Given the description of an element on the screen output the (x, y) to click on. 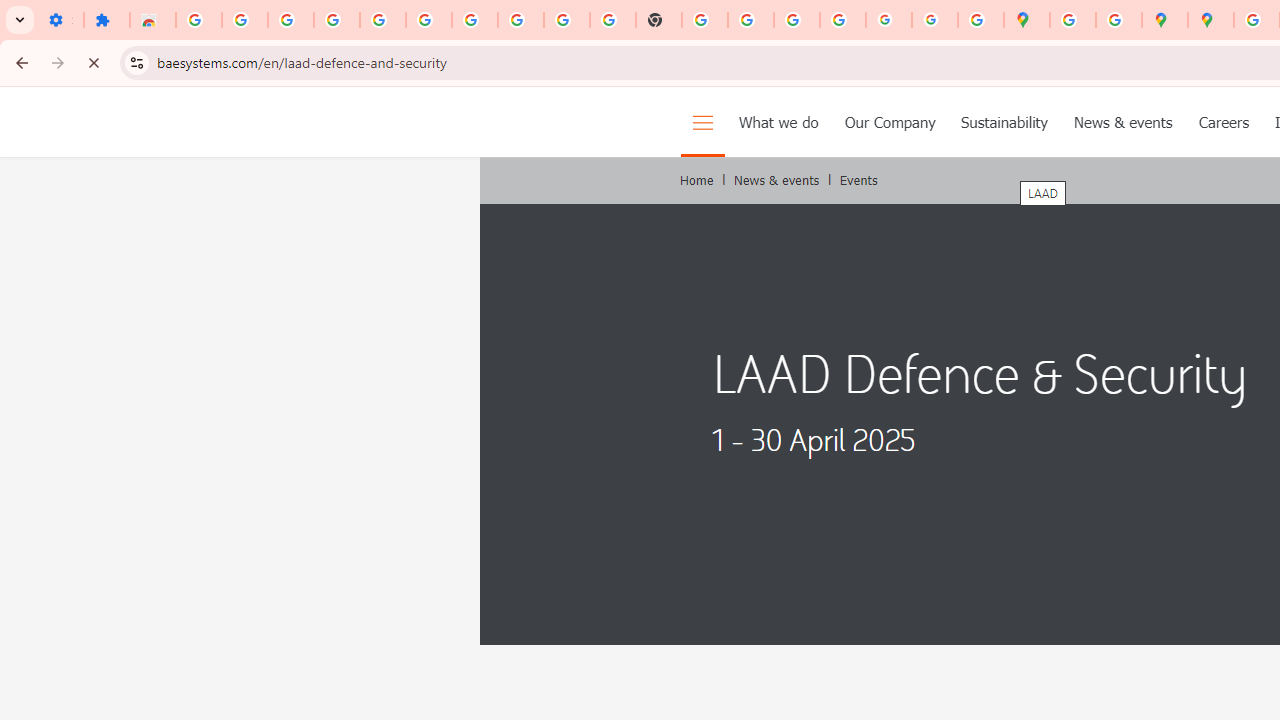
Sign in - Google Accounts (198, 20)
Sign in - Google Accounts (428, 20)
Sustainability (1004, 121)
Delete photos & videos - Computer - Google Photos Help (290, 20)
